Given the description of an element on the screen output the (x, y) to click on. 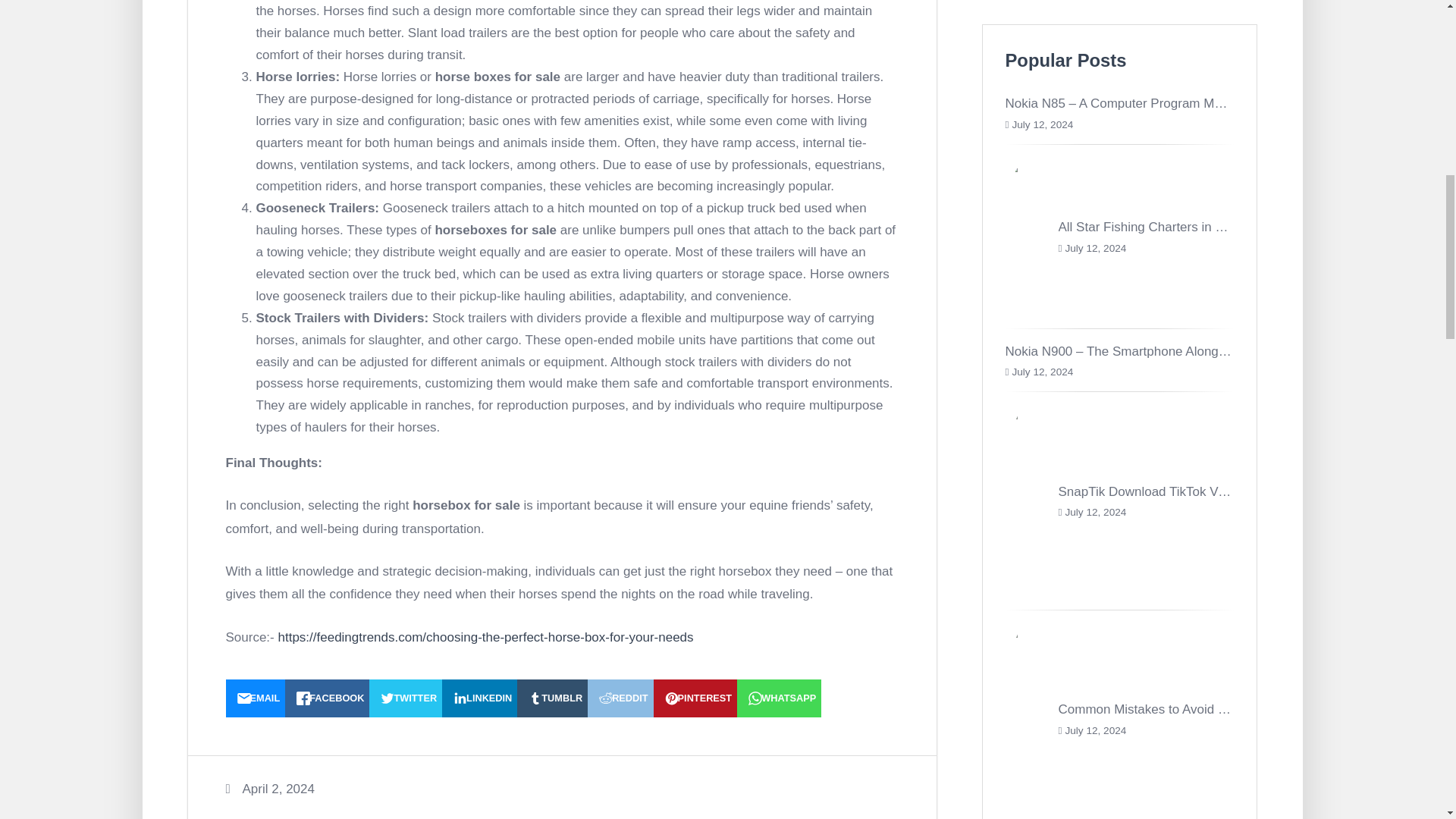
PINTEREST (695, 698)
July 12, 2024 (1042, 124)
WHATSAPP (778, 698)
July 12, 2024 (1094, 247)
July 12, 2024 (1042, 371)
Common Mistakes to Avoid When Writing an eBook (1206, 708)
SnapTik Download TikTok Video Downloader Without Watermark O (1250, 491)
TUMBLR (552, 698)
LINKEDIN (479, 698)
EMAIL (255, 698)
